Given the description of an element on the screen output the (x, y) to click on. 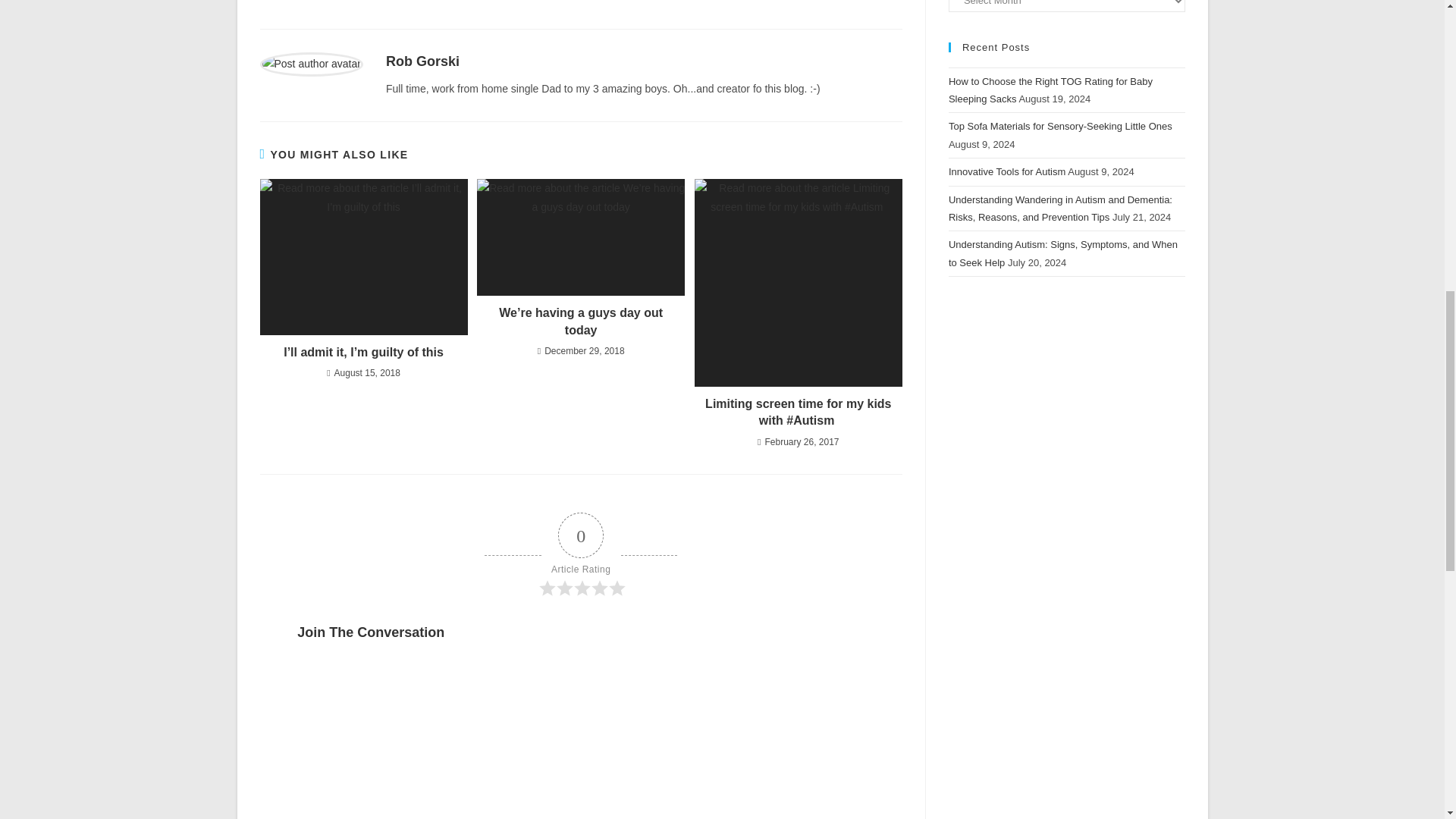
signiture (348, 2)
Visit author page (422, 61)
Visit author page (310, 63)
Comment Form (580, 737)
